Given the description of an element on the screen output the (x, y) to click on. 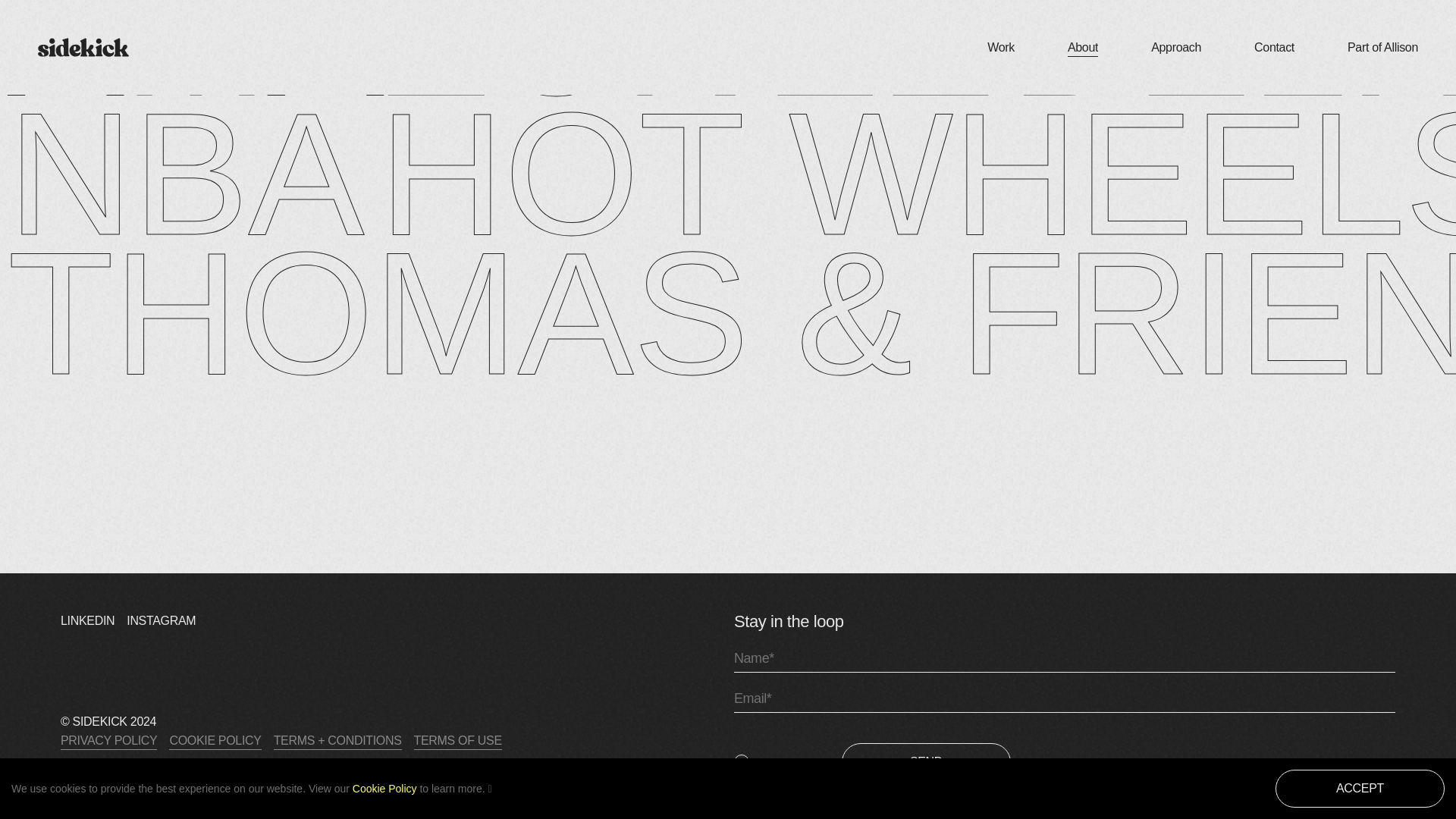
PRIVACY (783, 761)
NBA (184, 174)
INSTAGRAM (160, 619)
COOKIE POLICY (214, 739)
PRIVACY POLICY (109, 739)
AMAZON (377, 52)
TERMS OF USE (457, 739)
SEND (925, 761)
LINKEDIN (88, 619)
EE (878, 52)
